Given the description of an element on the screen output the (x, y) to click on. 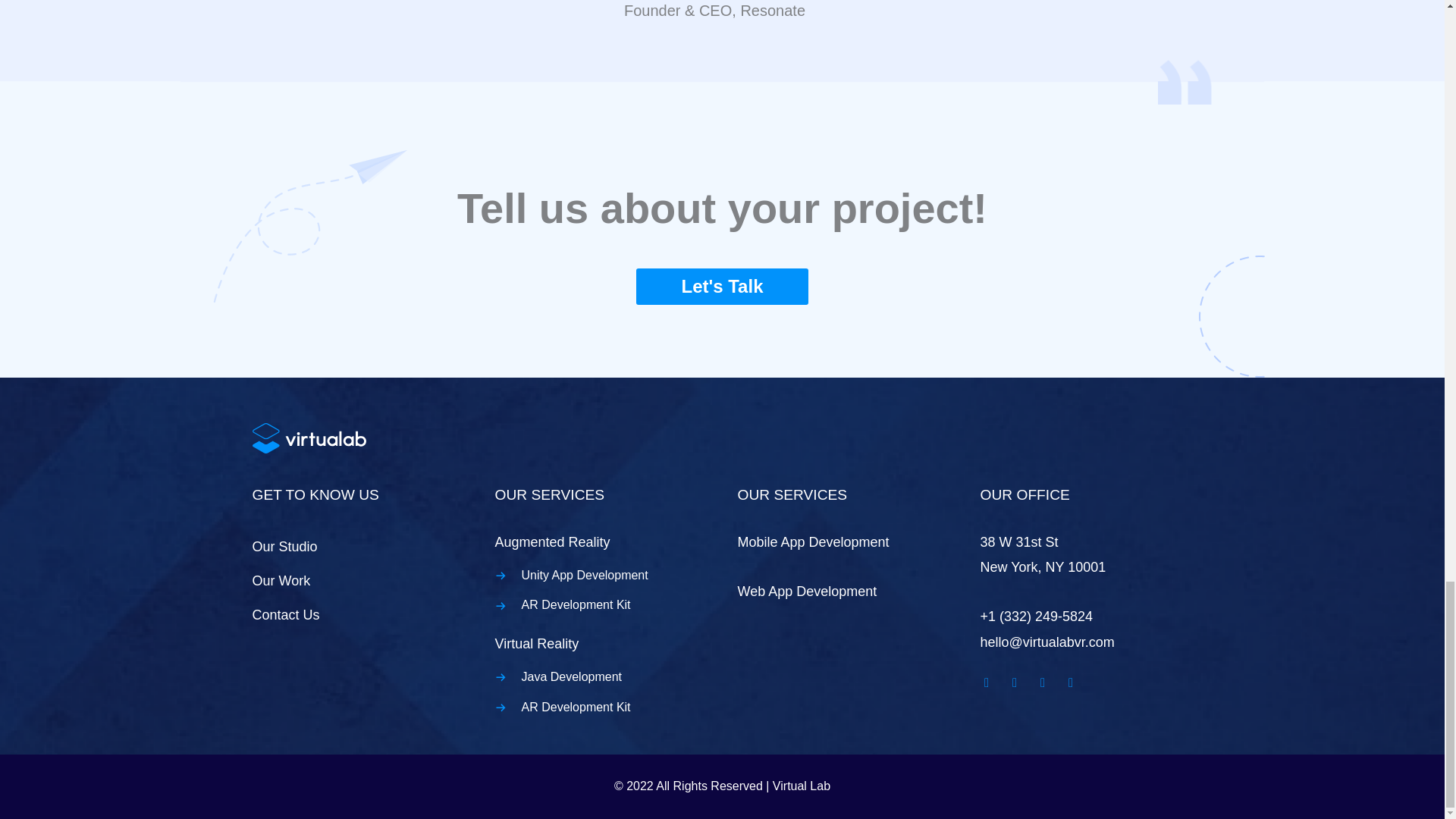
VIRTUAL LAB Logo32 (308, 438)
Our Work (280, 580)
Our Studio (284, 546)
Let's Talk (722, 286)
